Given the description of an element on the screen output the (x, y) to click on. 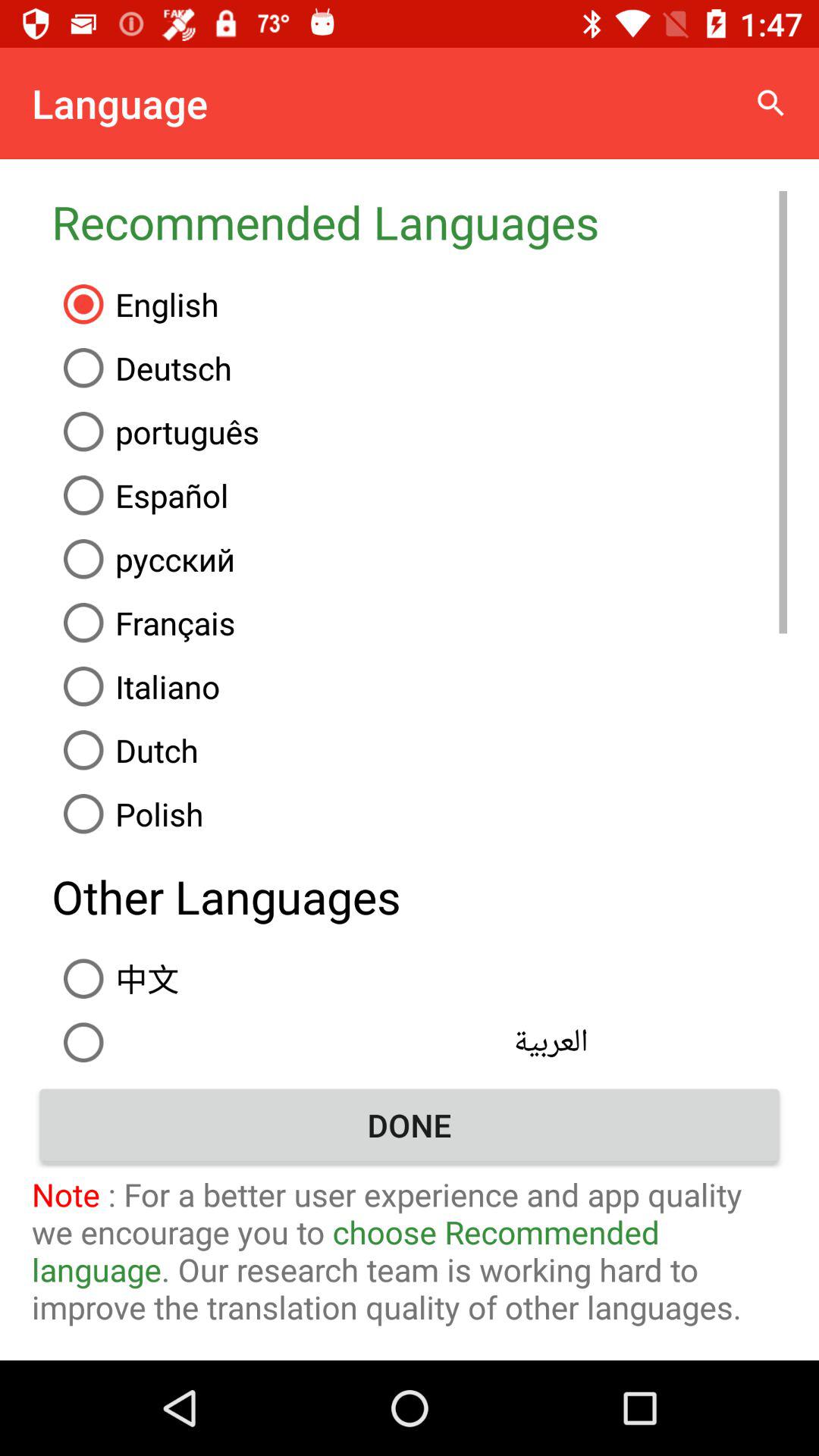
swipe until the done item (409, 1124)
